Given the description of an element on the screen output the (x, y) to click on. 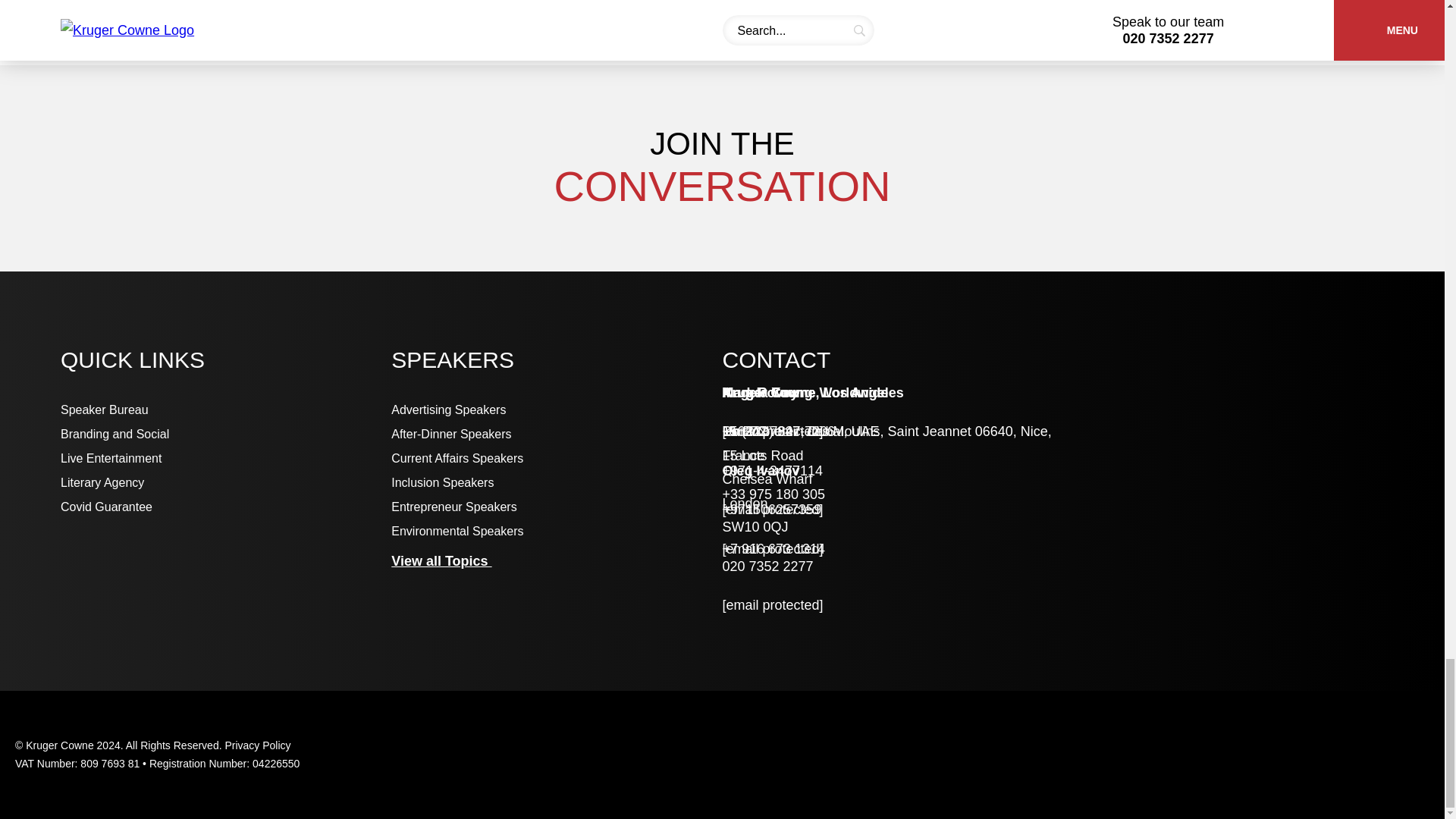
Branding and Social (226, 434)
Advertising Speakers (556, 410)
Speaker Bureau (226, 410)
Covid Guarantee (226, 507)
Live Entertainment (226, 458)
Literary Agency (226, 482)
